Given the description of an element on the screen output the (x, y) to click on. 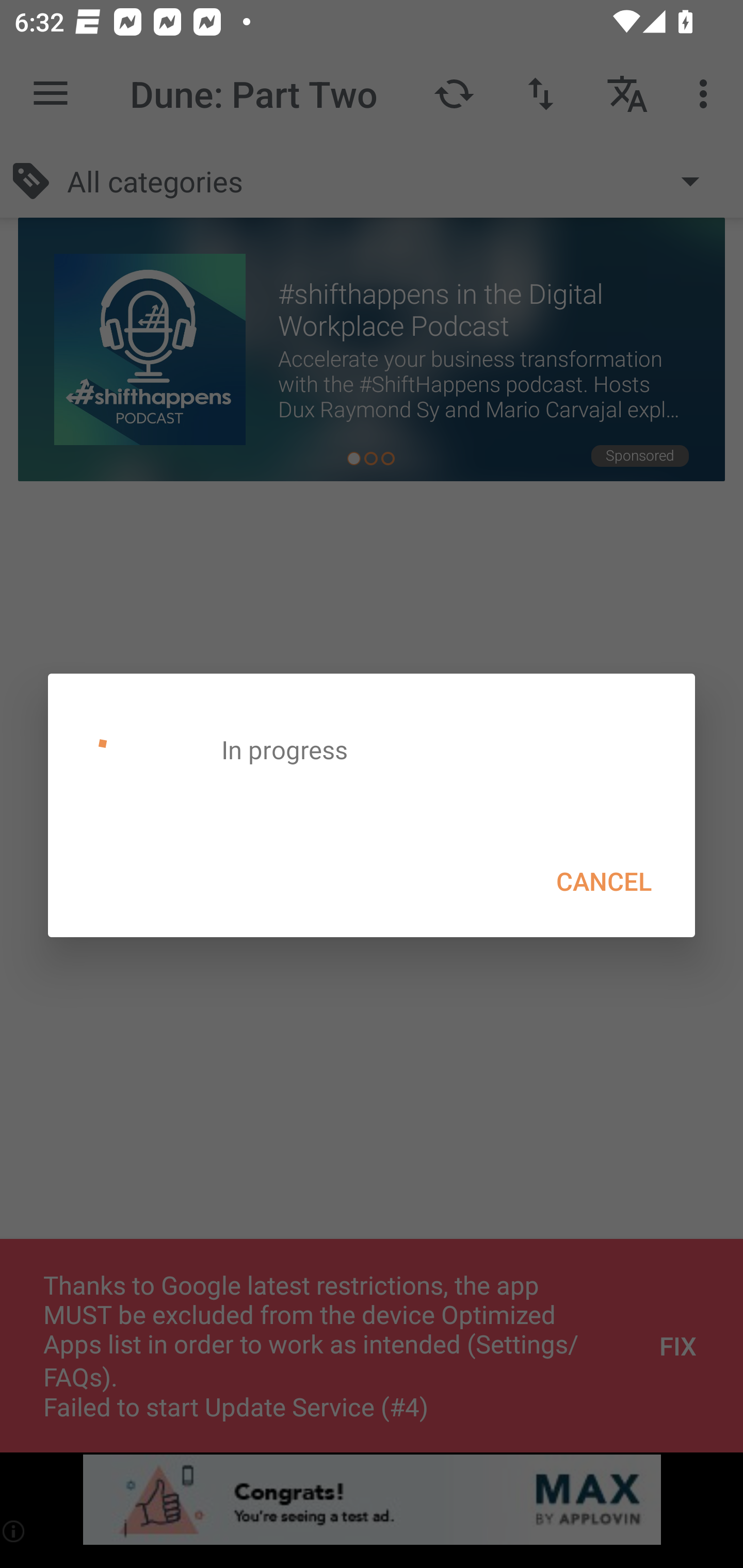
CANCEL (603, 880)
